Given the description of an element on the screen output the (x, y) to click on. 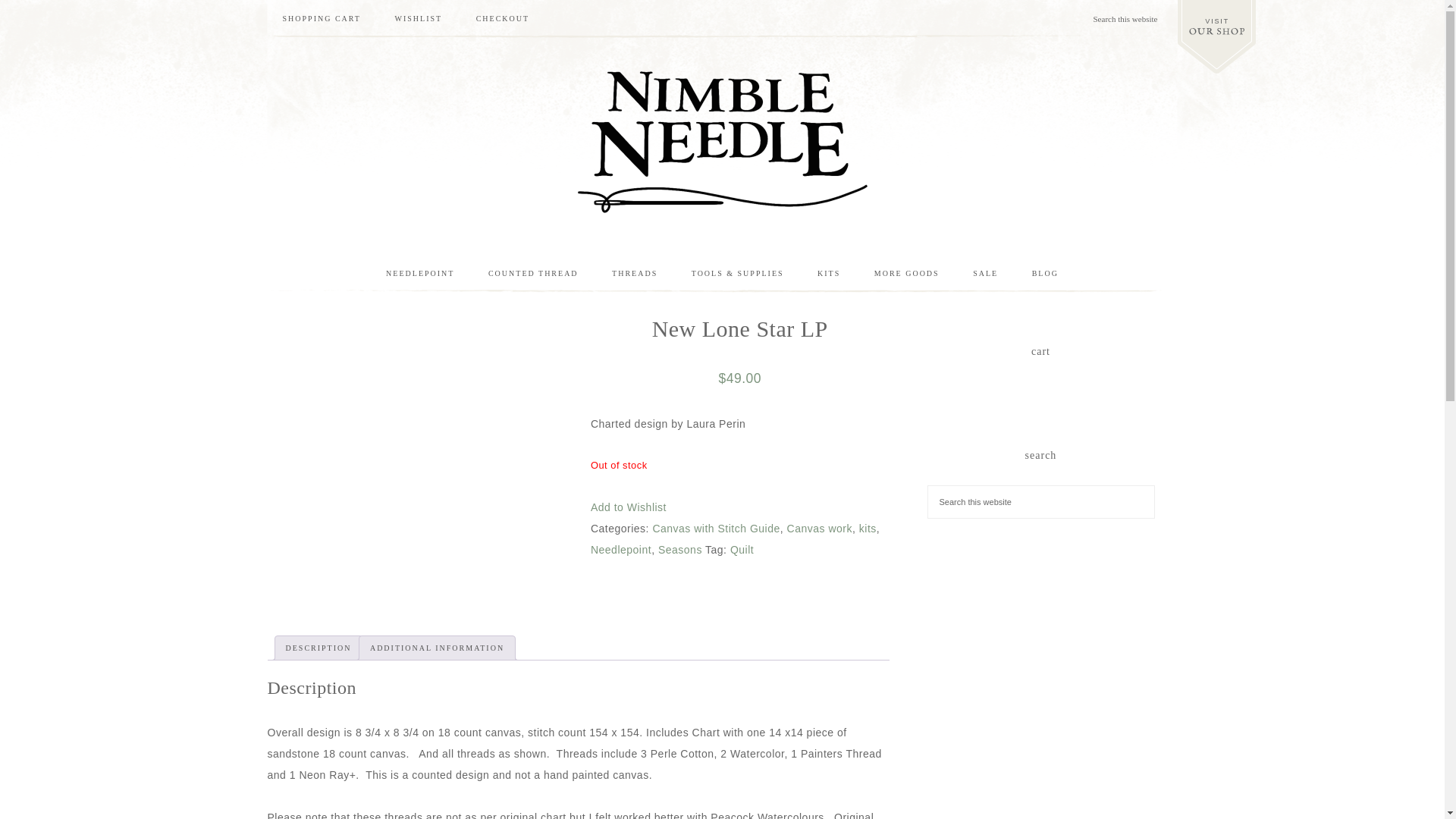
SHOPPING CART (320, 18)
THREADS (634, 273)
NEEDLEPOINT (419, 273)
CHECKOUT (502, 18)
COUNTED THREAD (533, 273)
